Given the description of an element on the screen output the (x, y) to click on. 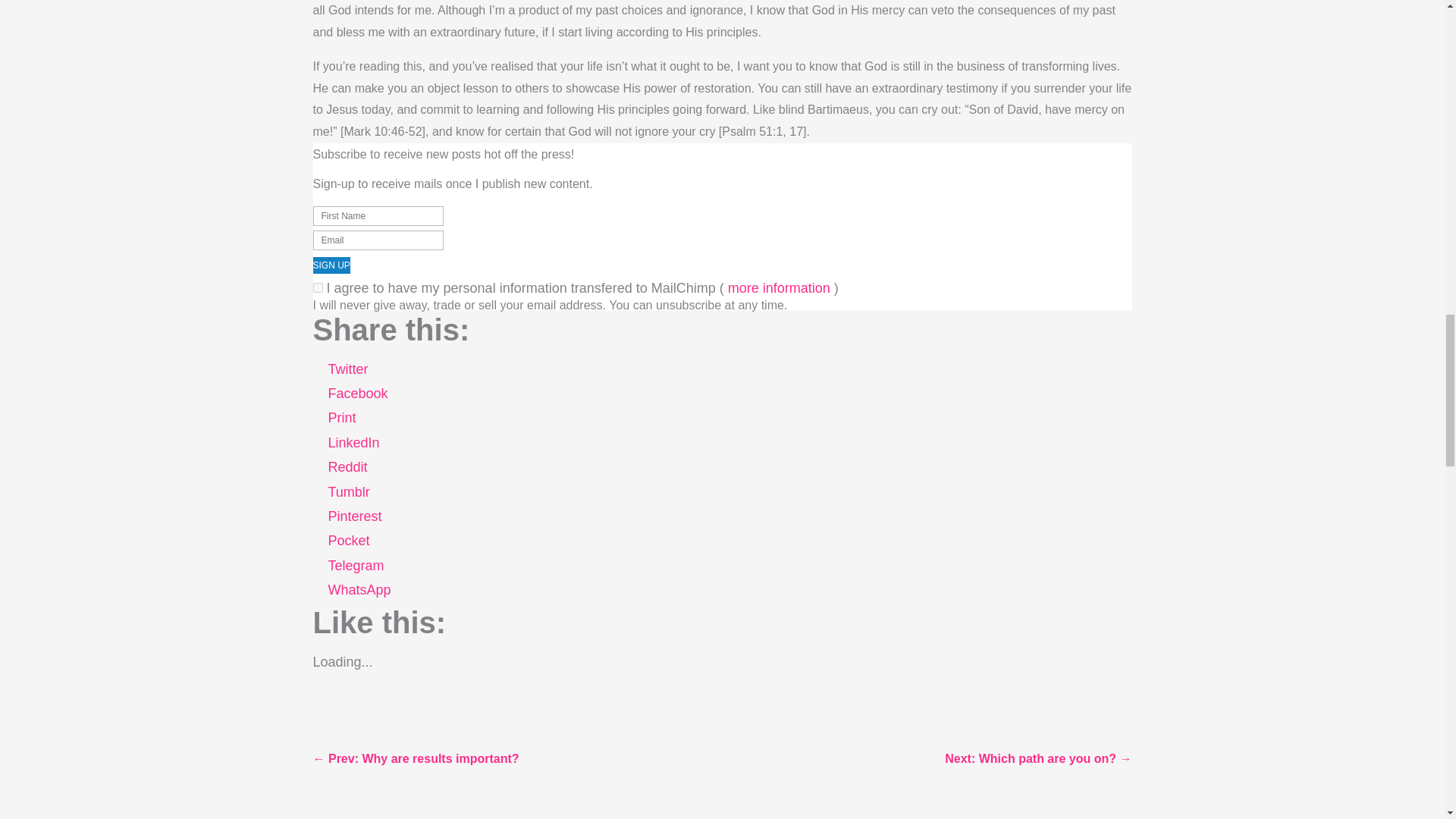
Telegram (355, 568)
Reddit (346, 470)
Pocket (348, 544)
Print (341, 421)
Click to share on Tumblr (348, 495)
Click to print (341, 421)
LinkedIn (352, 445)
WhatsApp (358, 593)
on (317, 287)
SIGN UP (331, 265)
Tumblr (348, 495)
Click to share on Reddit (346, 470)
SIGN UP (331, 265)
more information (778, 291)
Click to share on Facebook (357, 396)
